Given the description of an element on the screen output the (x, y) to click on. 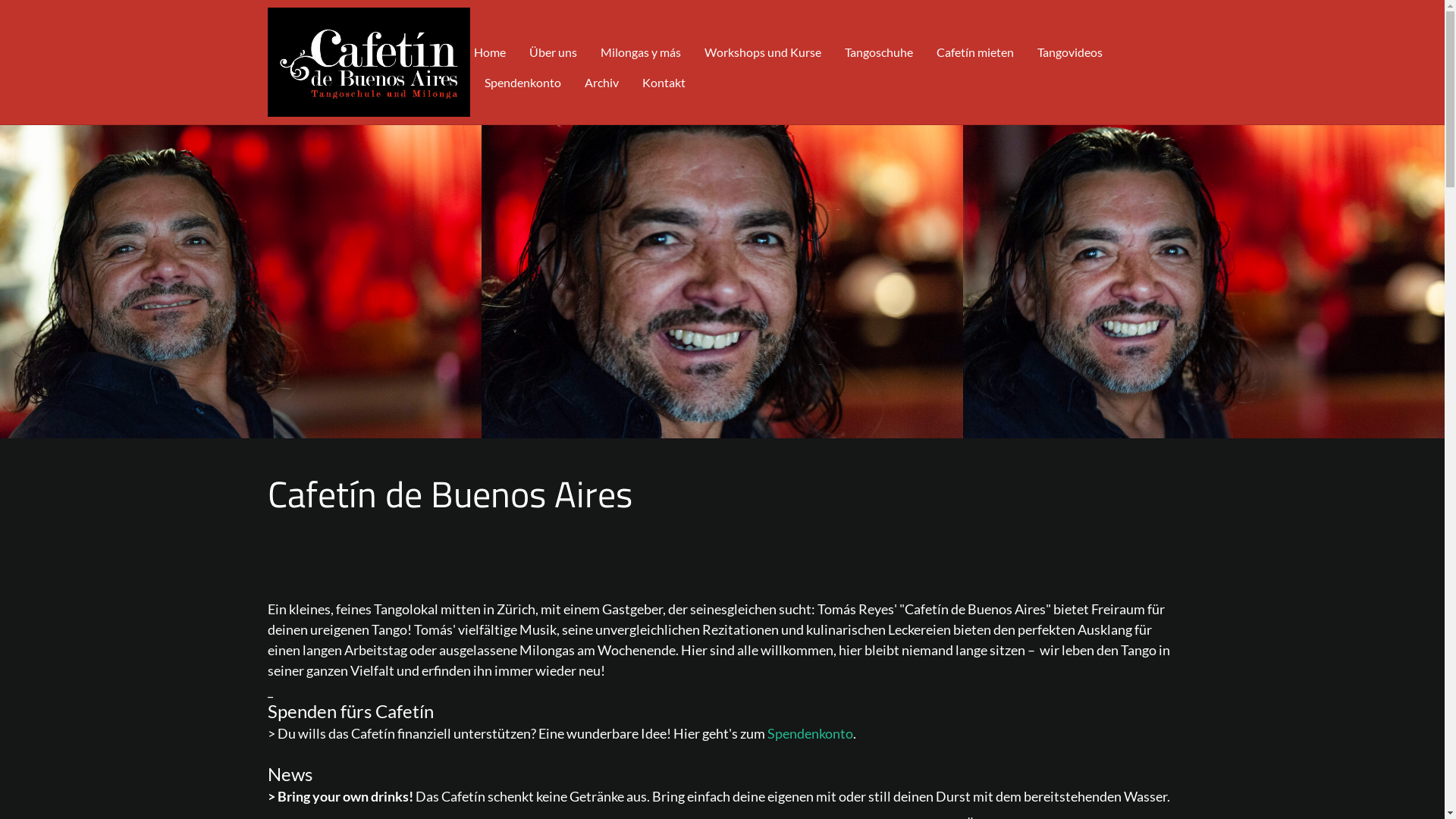
Tangovideos Element type: text (1069, 46)
Archiv Element type: text (600, 77)
Kontakt Element type: text (662, 77)
Workshops und Kurse Element type: text (762, 46)
Spendenkonto Element type: text (810, 732)
Tangoschuhe Element type: text (878, 46)
logo Element type: hover (367, 61)
Spendenkonto Element type: text (522, 77)
Home Element type: text (494, 46)
